Given the description of an element on the screen output the (x, y) to click on. 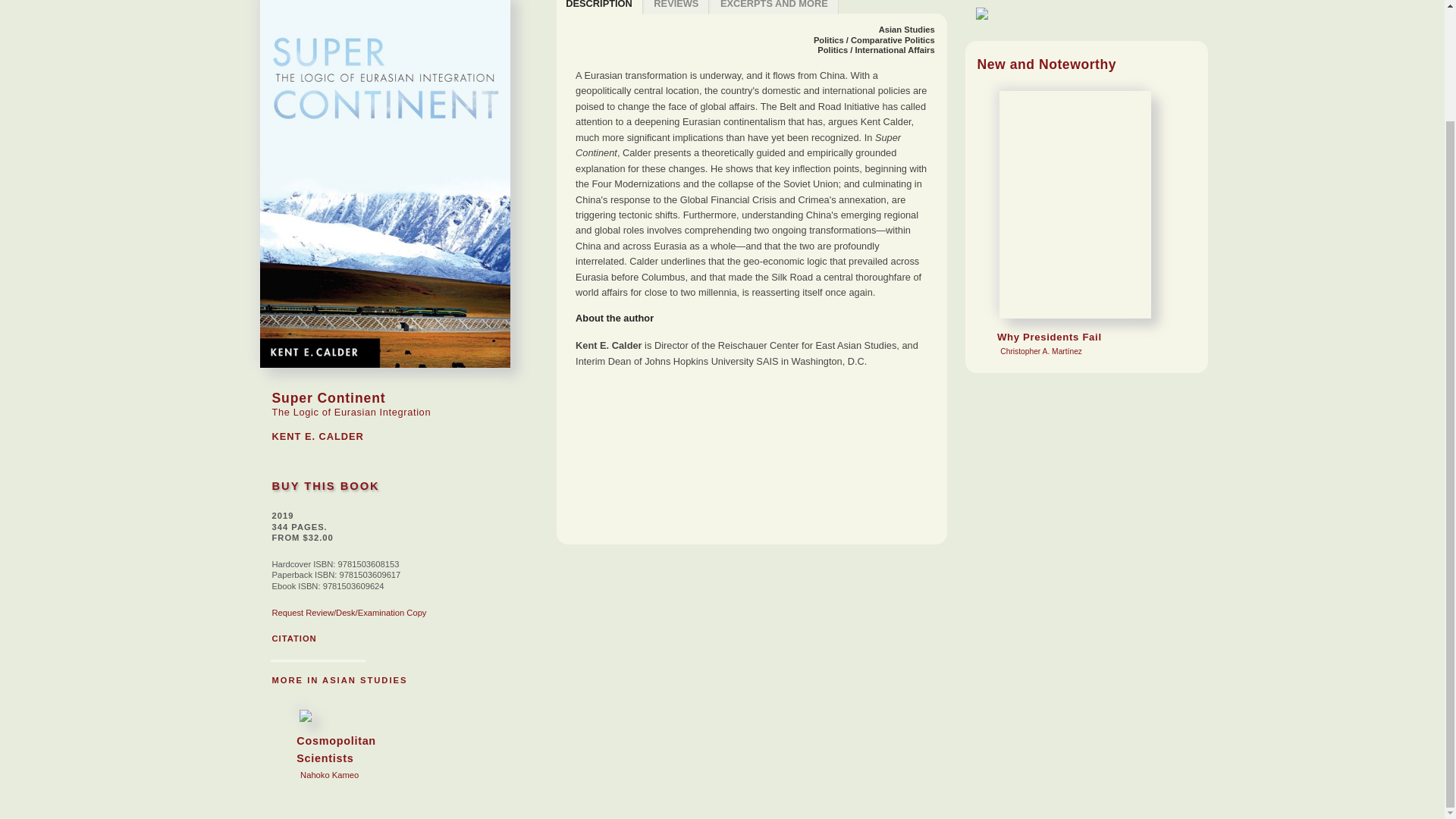
CITATION (352, 744)
DESCRIPTION (292, 637)
MORE IN ASIAN STUDIES (599, 7)
Asian Studies (338, 679)
REVIEWS (906, 29)
BUY THIS BOOK (677, 7)
